Given the description of an element on the screen output the (x, y) to click on. 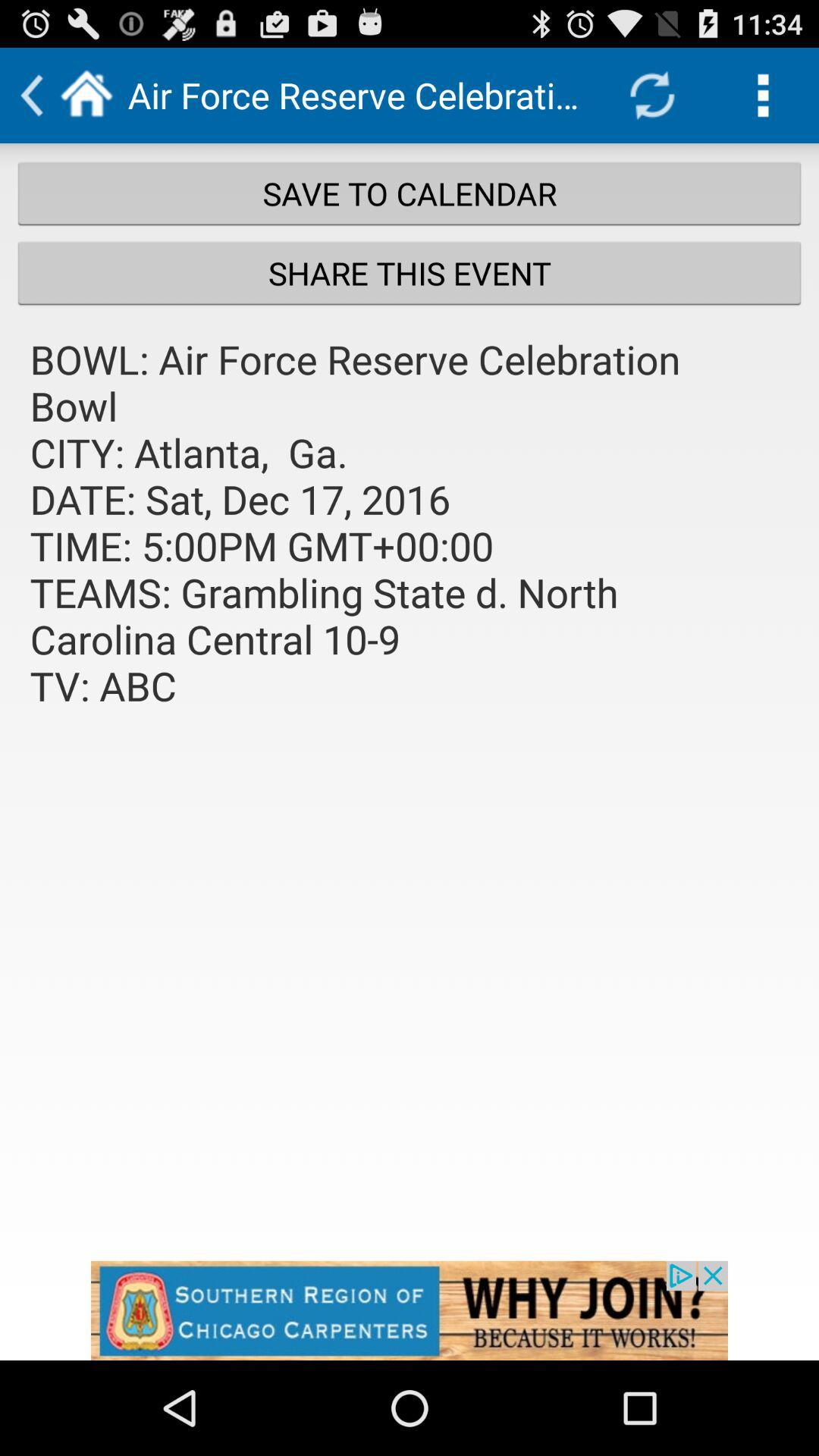
update (651, 95)
